Given the description of an element on the screen output the (x, y) to click on. 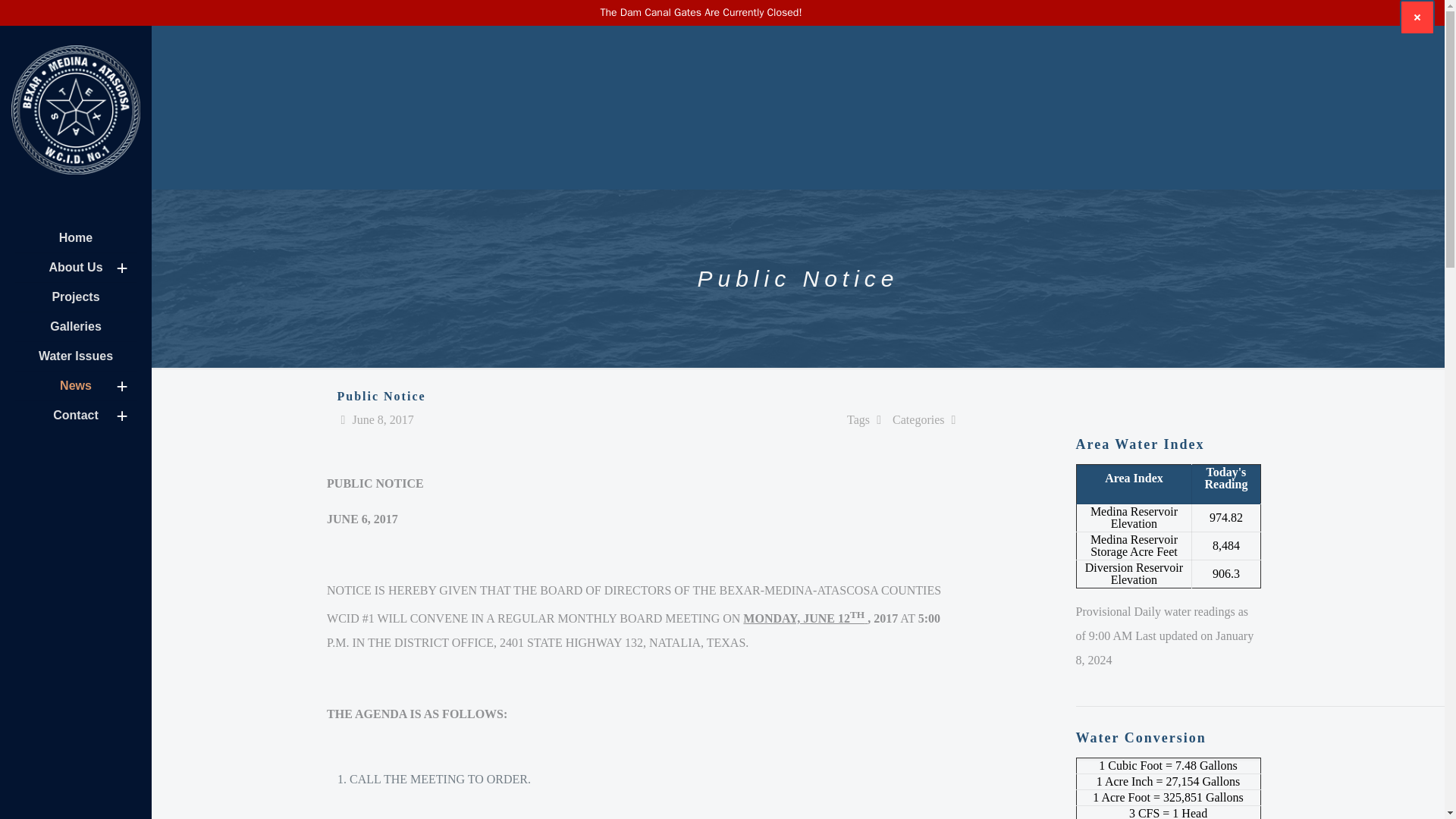
Galleries (75, 327)
About Us (75, 267)
Contact (75, 415)
Water Issues (75, 356)
Home (75, 238)
Projects (75, 297)
News (75, 386)
